Given the description of an element on the screen output the (x, y) to click on. 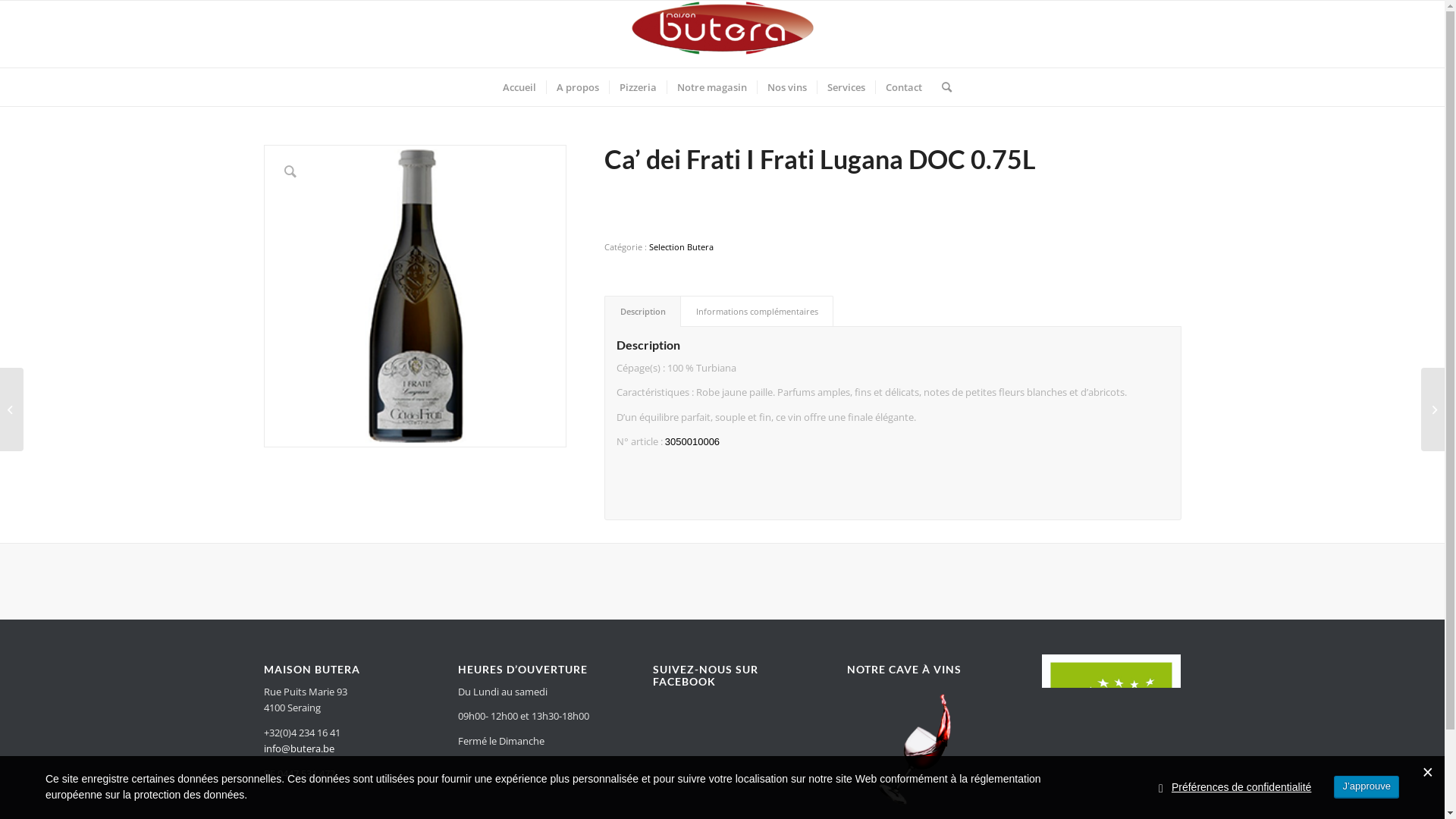
Nos vins Element type: text (786, 87)
Selection Butera Element type: text (681, 246)
Services Element type: text (845, 87)
A propos Element type: text (577, 87)
Accueil Element type: text (519, 87)
Description Element type: text (642, 310)
Pizzeria Element type: text (637, 87)
3050010006_Ca' dei frati Element type: hover (414, 295)
Contact Element type: text (903, 87)
info@butera.be Element type: text (298, 748)
Notre magasin Element type: text (711, 87)
